Given the description of an element on the screen output the (x, y) to click on. 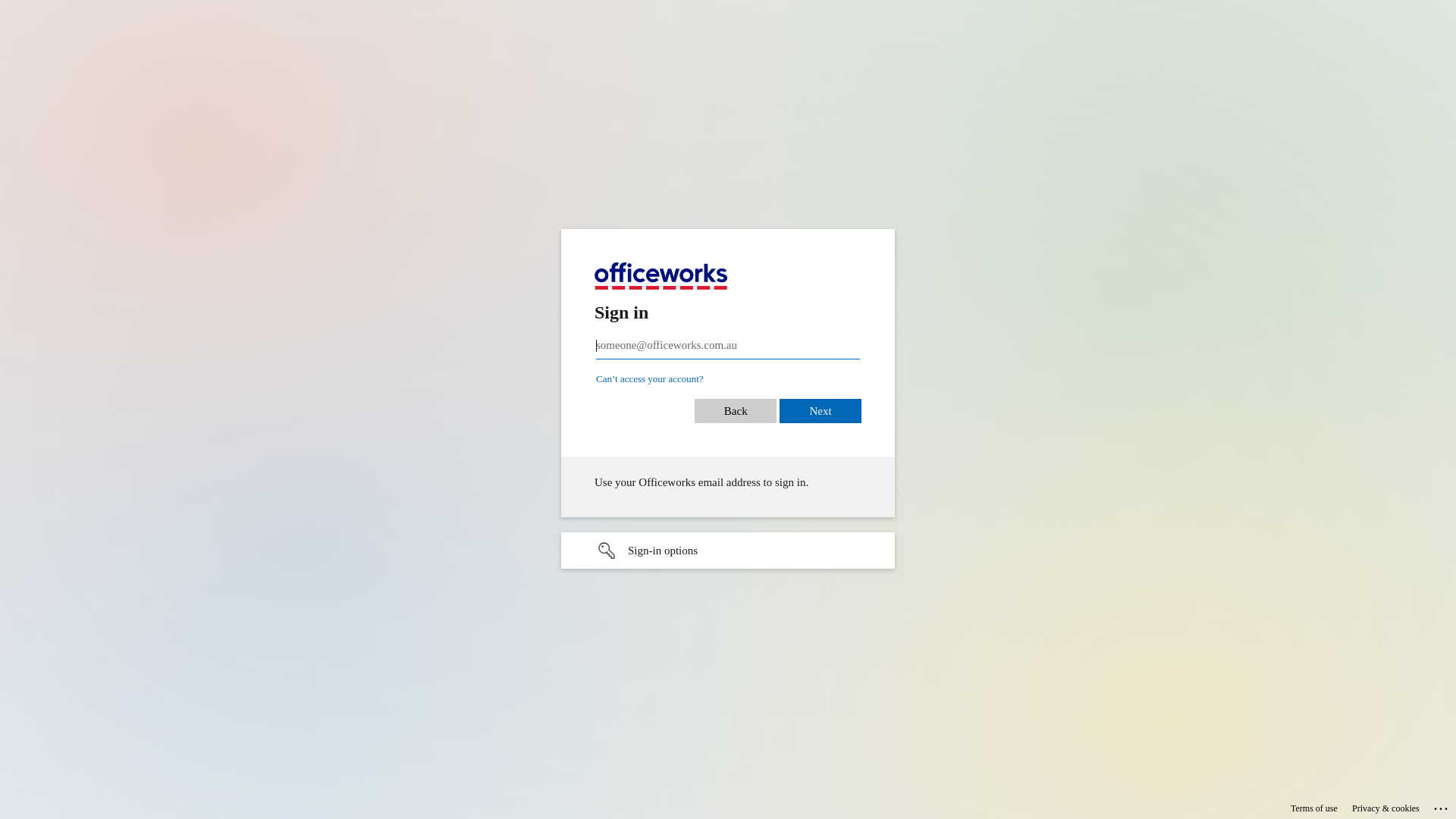
... Element type: text (1441, 805)
Next Element type: text (820, 404)
